Given the description of an element on the screen output the (x, y) to click on. 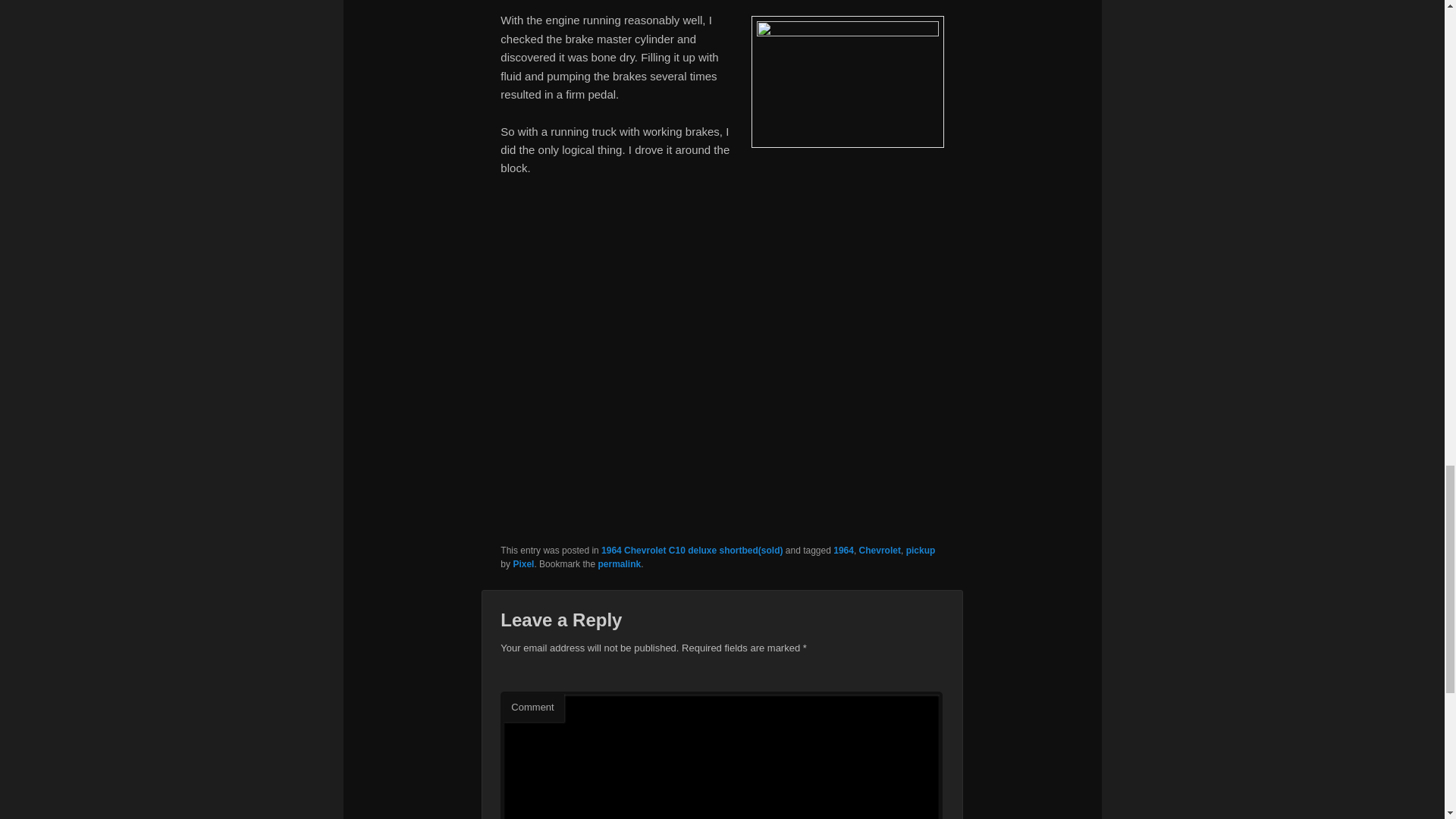
1964 (842, 550)
permalink (618, 563)
pickup (920, 550)
Pixel (523, 563)
Chevrolet (880, 550)
